Given the description of an element on the screen output the (x, y) to click on. 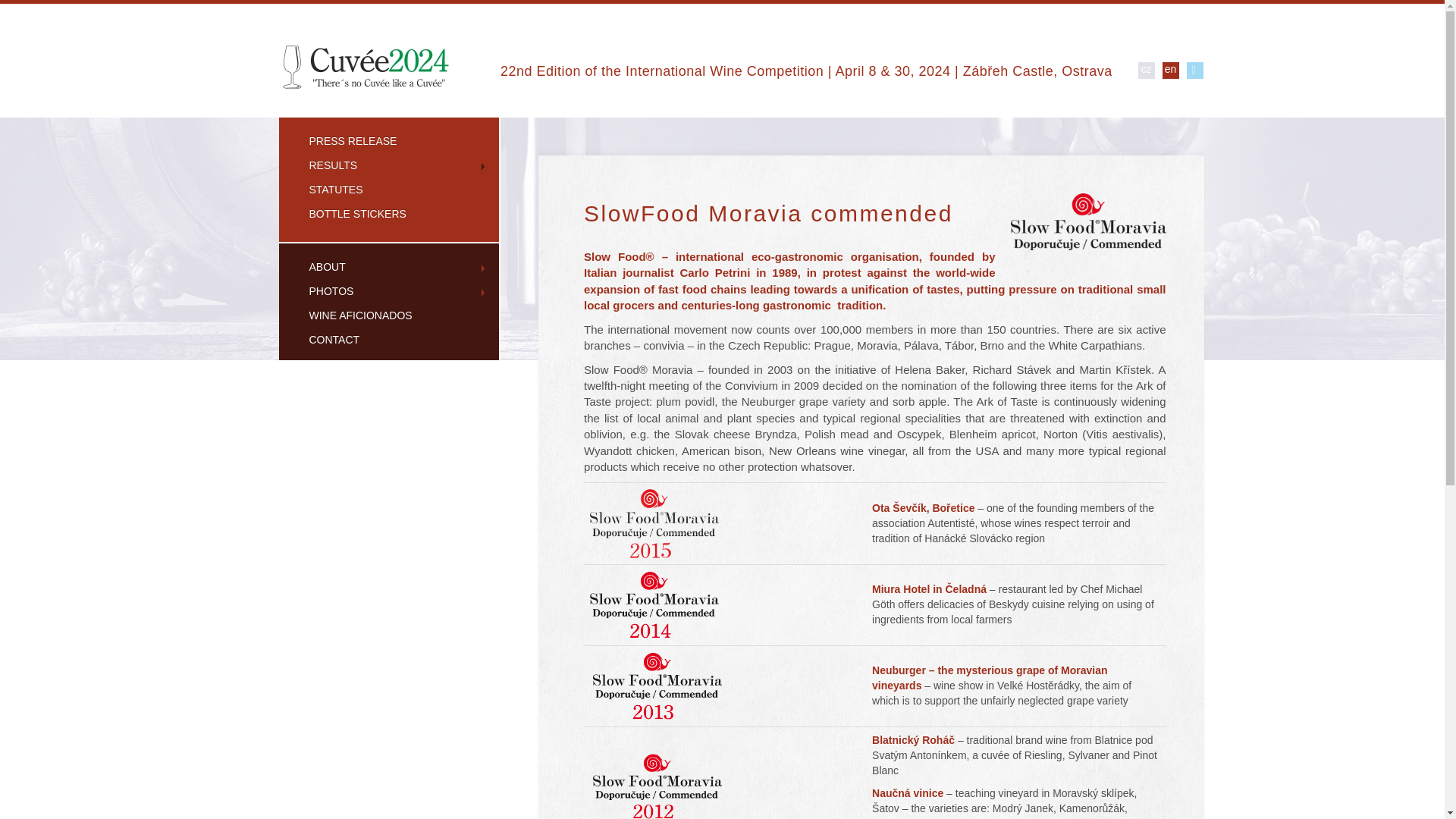
BOTTLE STICKERS (389, 214)
PHOTOS (389, 291)
cz (1145, 70)
WINE AFICIONADOS (389, 315)
STATUTES (389, 190)
PRESS RELEASE (389, 141)
en (1169, 70)
CONTACT (389, 340)
ABOUT (389, 267)
RESULTS (389, 165)
